Given the description of an element on the screen output the (x, y) to click on. 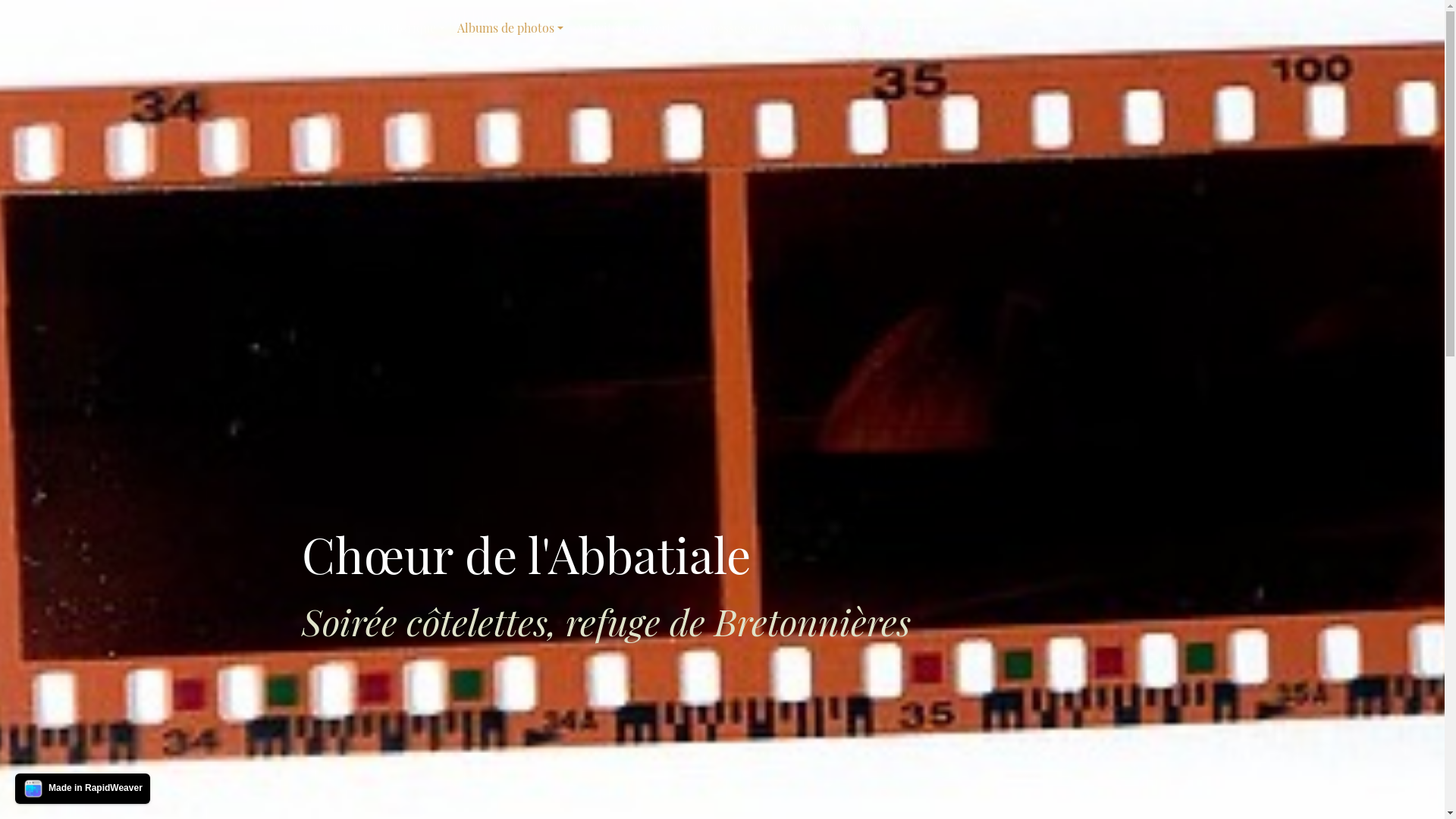
Adresses et contacts Element type: text (753, 27)
Historique Element type: text (411, 27)
Bienvenue Element type: text (336, 27)
Membres Element type: text (851, 27)
Albums de photos Element type: text (510, 27)
